Given the description of an element on the screen output the (x, y) to click on. 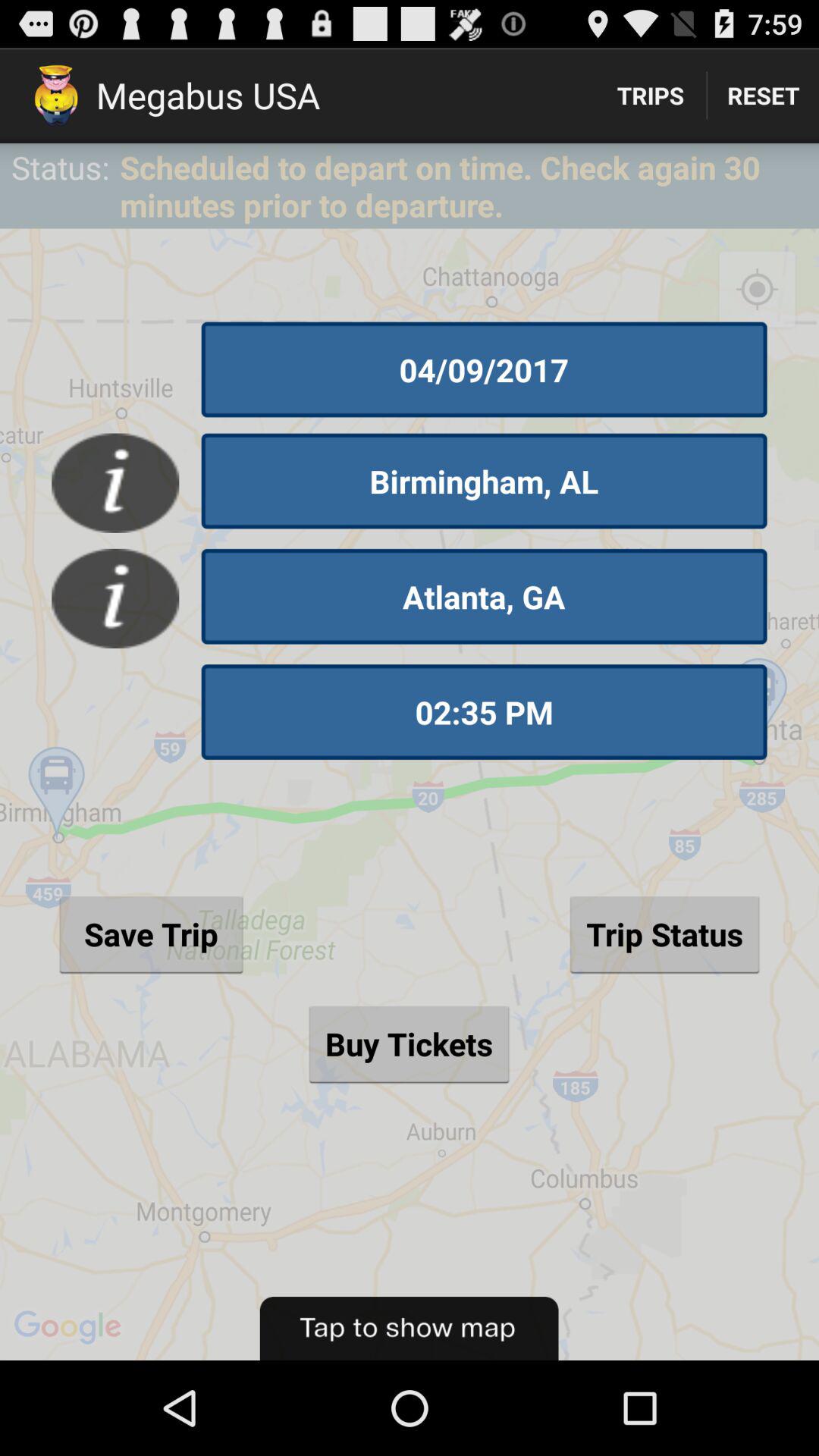
choose the button to the right of save trip button (664, 934)
